Given the description of an element on the screen output the (x, y) to click on. 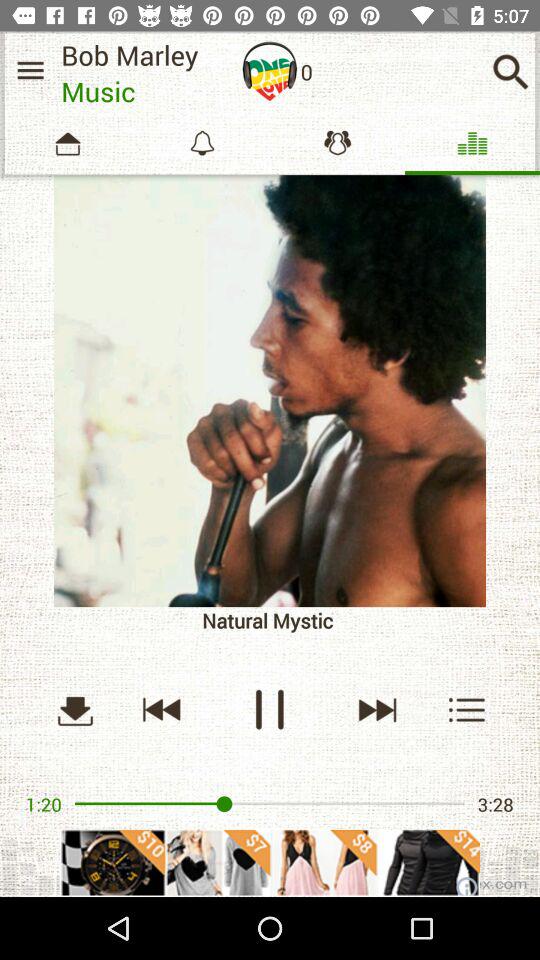
next music (376, 709)
